Given the description of an element on the screen output the (x, y) to click on. 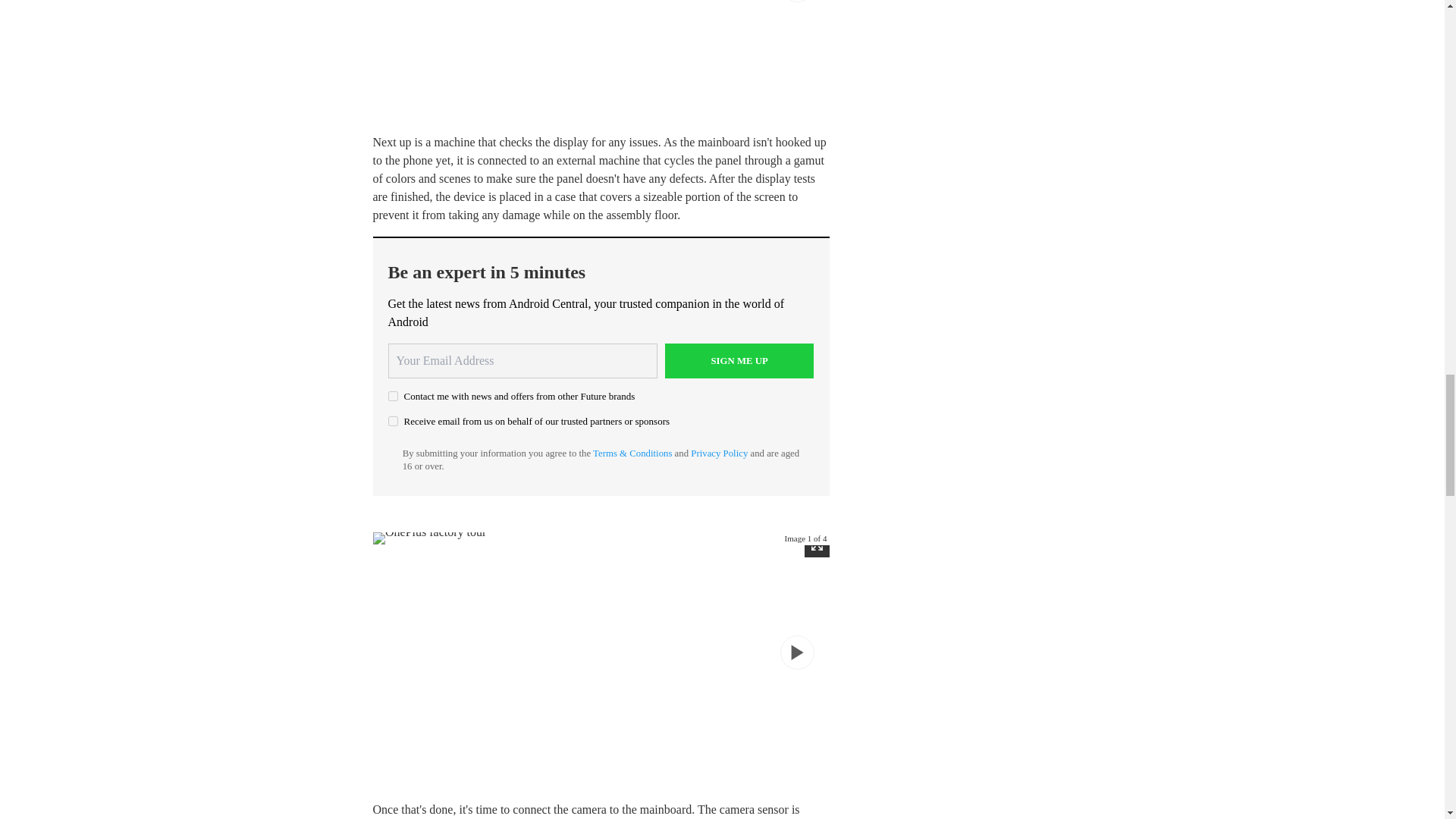
on (392, 396)
Sign me up (739, 360)
on (392, 420)
